Given the description of an element on the screen output the (x, y) to click on. 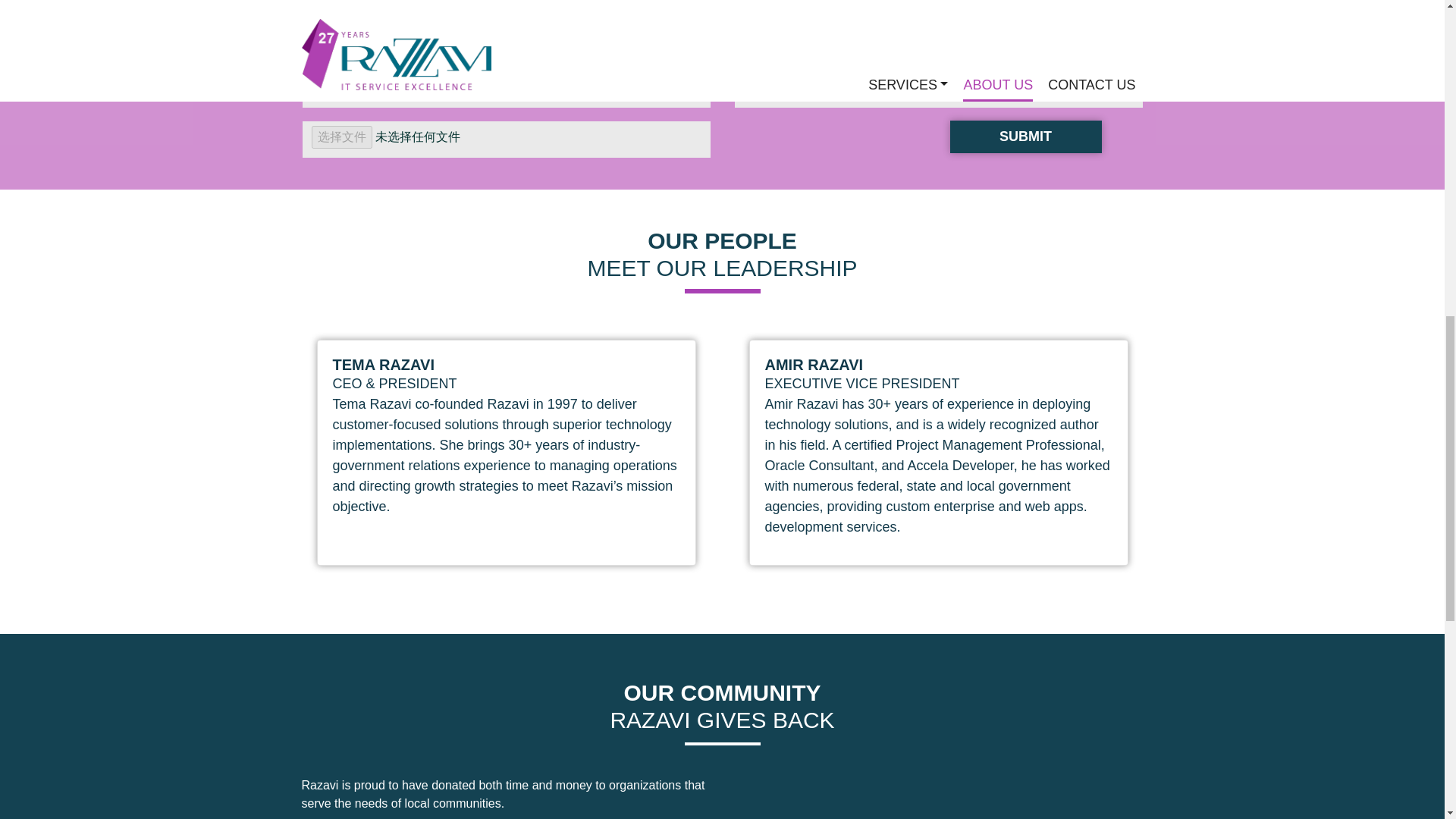
Submit (1024, 136)
Submit (1024, 136)
